Given the description of an element on the screen output the (x, y) to click on. 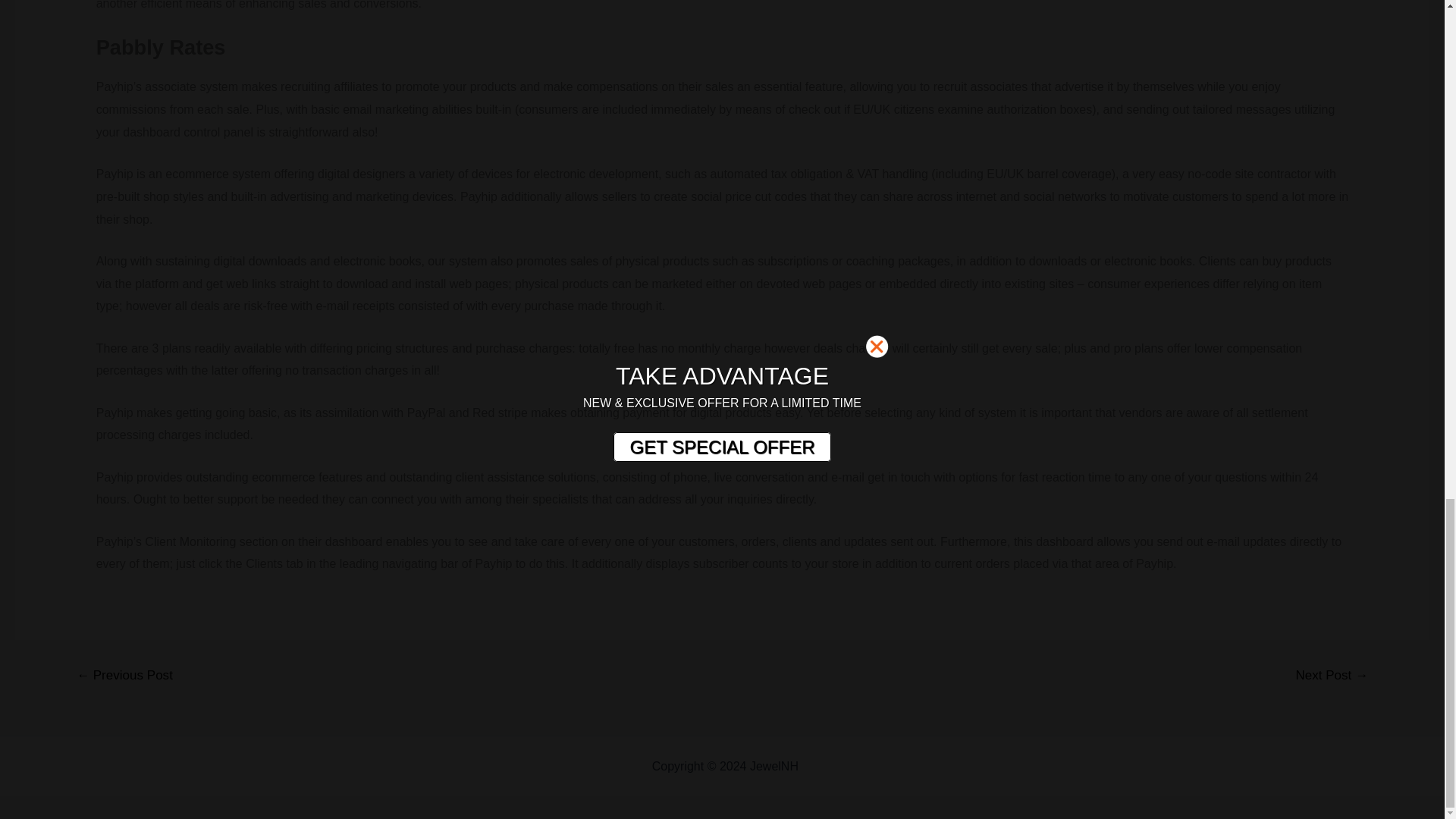
Sitemap (823, 766)
